Given the description of an element on the screen output the (x, y) to click on. 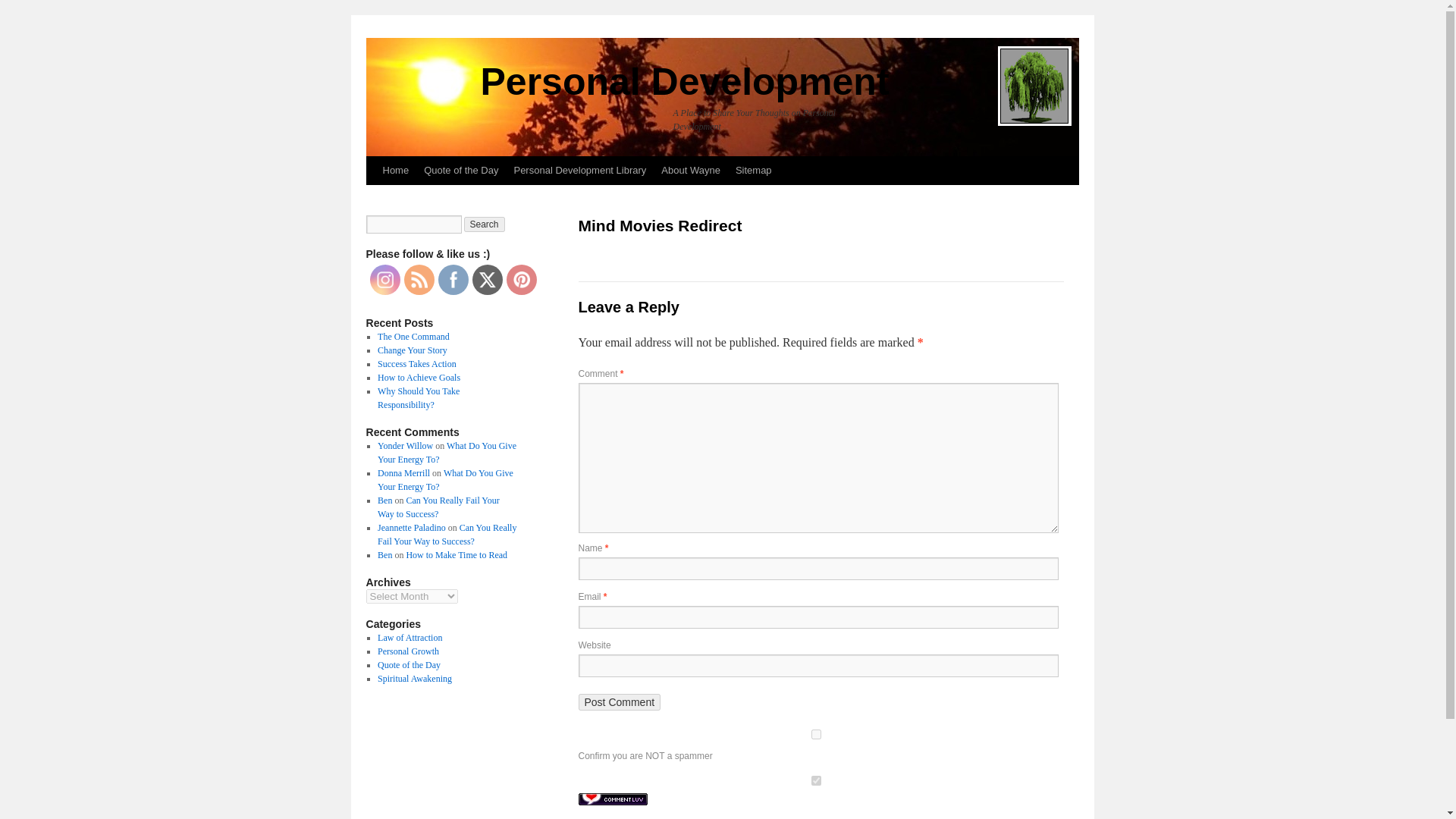
How to Make Time to Read (456, 554)
on (815, 780)
Search (484, 224)
Search (484, 224)
Personal Development (684, 81)
Personal Development Library (579, 170)
RSS (419, 279)
Success Takes Action (417, 363)
Sitemap (753, 170)
Change Your Story (411, 349)
Yonder Willow (404, 445)
Quote of the Day (460, 170)
What Do You Give Your Energy To? (445, 479)
Can You Really Fail Your Way to Success? (446, 534)
Personal Growth (408, 651)
